Given the description of an element on the screen output the (x, y) to click on. 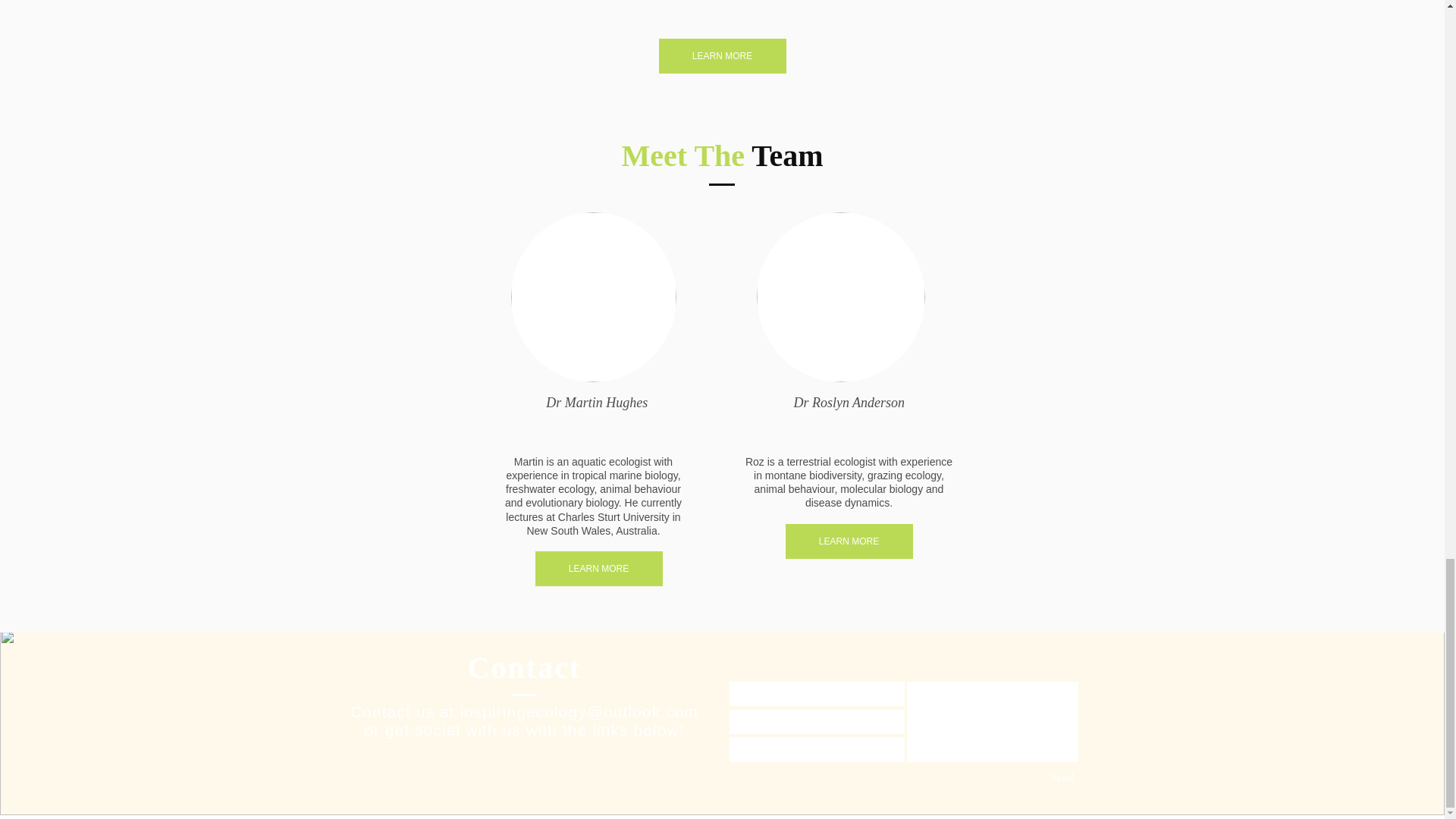
LEARN MORE (598, 568)
Twitter Follow (598, 425)
Our Blog (980, 694)
Twitter Follow (845, 425)
School Visits (722, 694)
One Day Courses (460, 694)
Twitter Follow (540, 761)
Send (1062, 777)
LEARN MORE (849, 541)
LEARN MORE (722, 55)
